Given the description of an element on the screen output the (x, y) to click on. 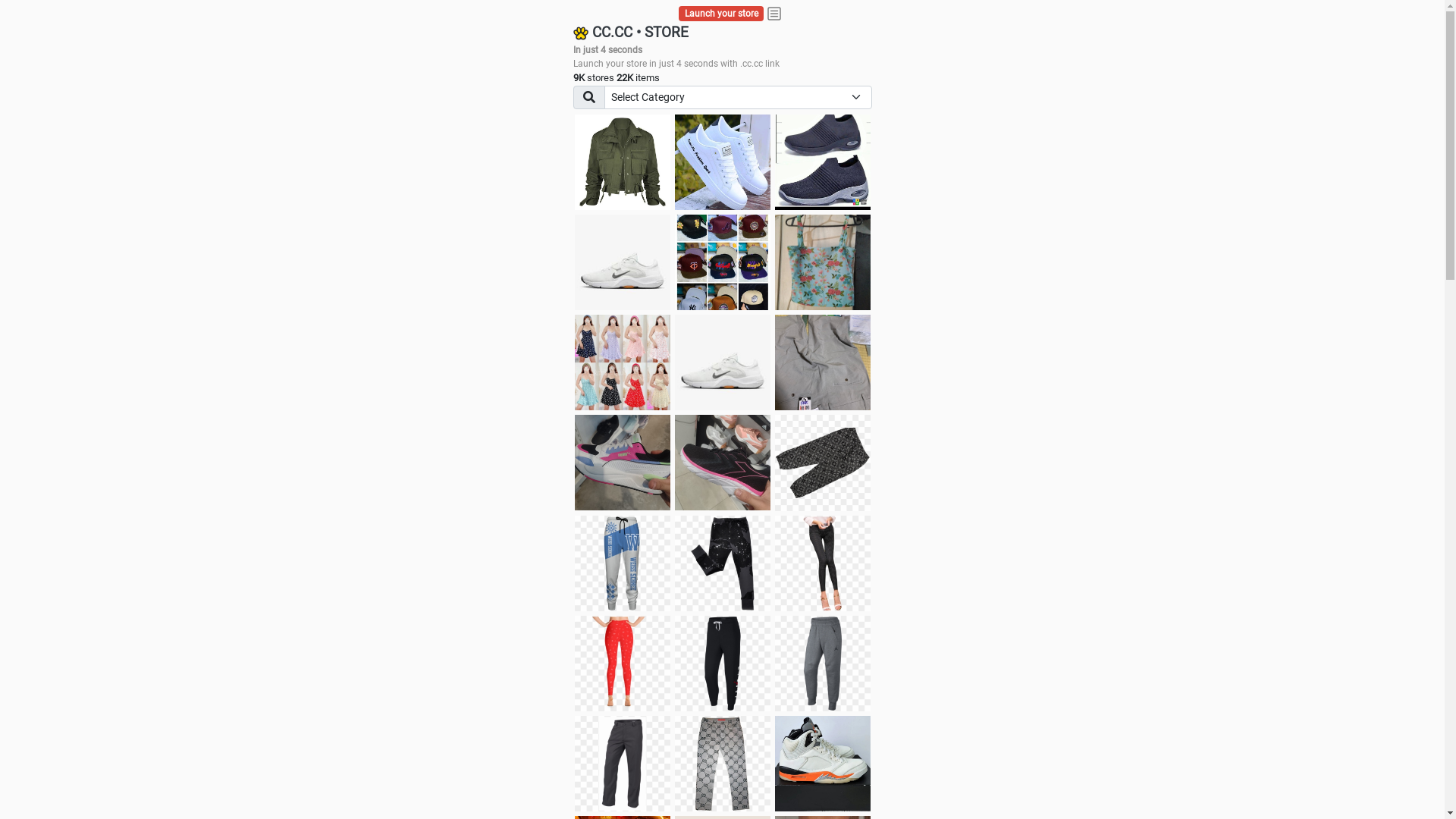
Short pant Element type: hover (822, 462)
Pant Element type: hover (622, 763)
Shoe Element type: hover (822, 763)
Shoes for boys Element type: hover (622, 262)
Pant Element type: hover (722, 763)
Pant Element type: hover (622, 663)
Launch your store Element type: text (721, 13)
white shoes Element type: hover (722, 162)
Pant Element type: hover (822, 663)
Things we need Element type: hover (722, 262)
Pant Element type: hover (722, 663)
Shoes Element type: hover (722, 362)
Zapatillas Element type: hover (722, 462)
Dress/square nect top Element type: hover (622, 362)
Pant Element type: hover (822, 563)
Pant Element type: hover (722, 563)
Ukay cloth Element type: hover (822, 262)
Zapatillas pumas Element type: hover (622, 462)
jacket Element type: hover (622, 162)
Pant Element type: hover (622, 563)
shoes for boys Element type: hover (822, 162)
